Given the description of an element on the screen output the (x, y) to click on. 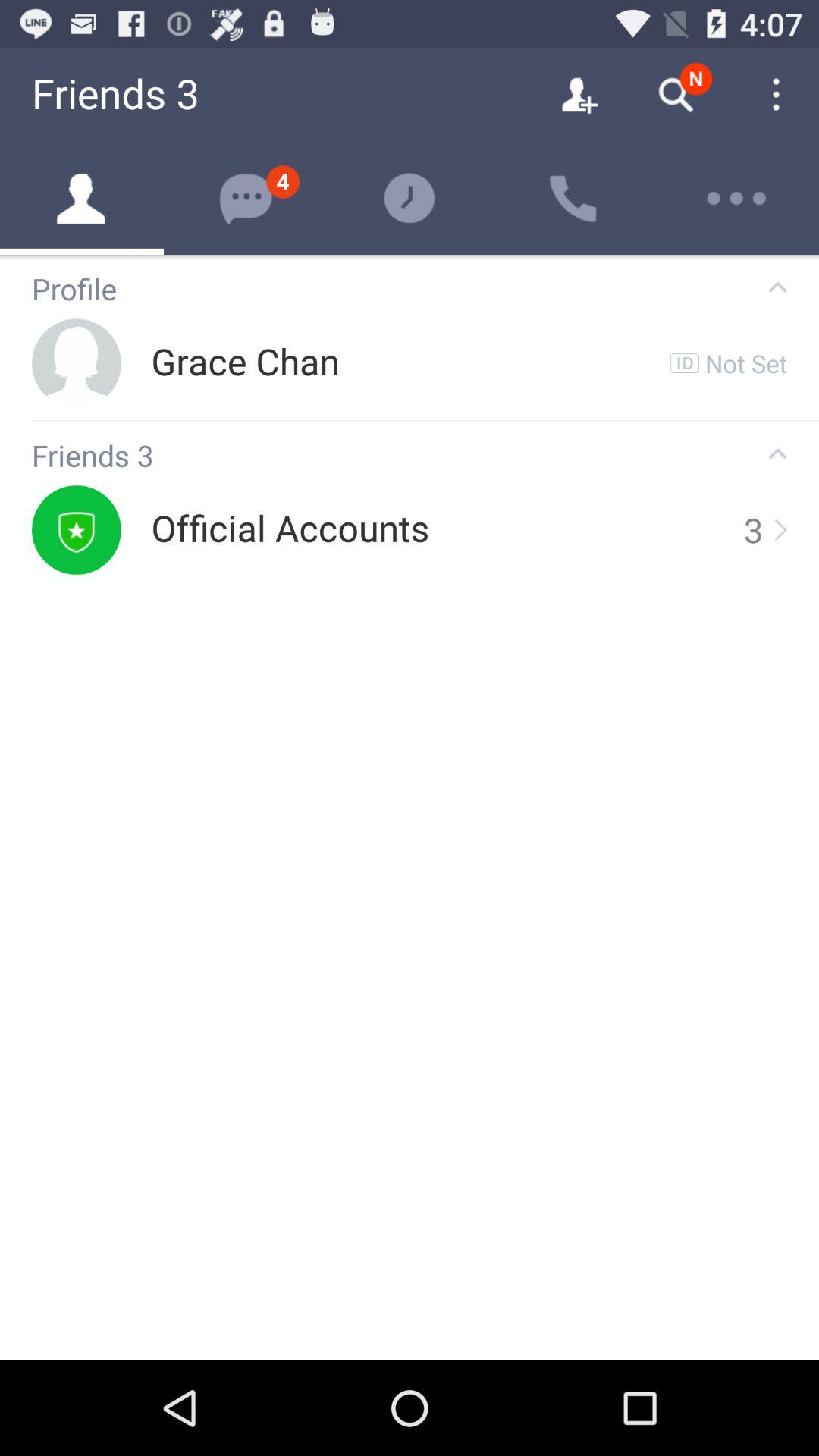
choose the item above the profile (409, 256)
